Given the description of an element on the screen output the (x, y) to click on. 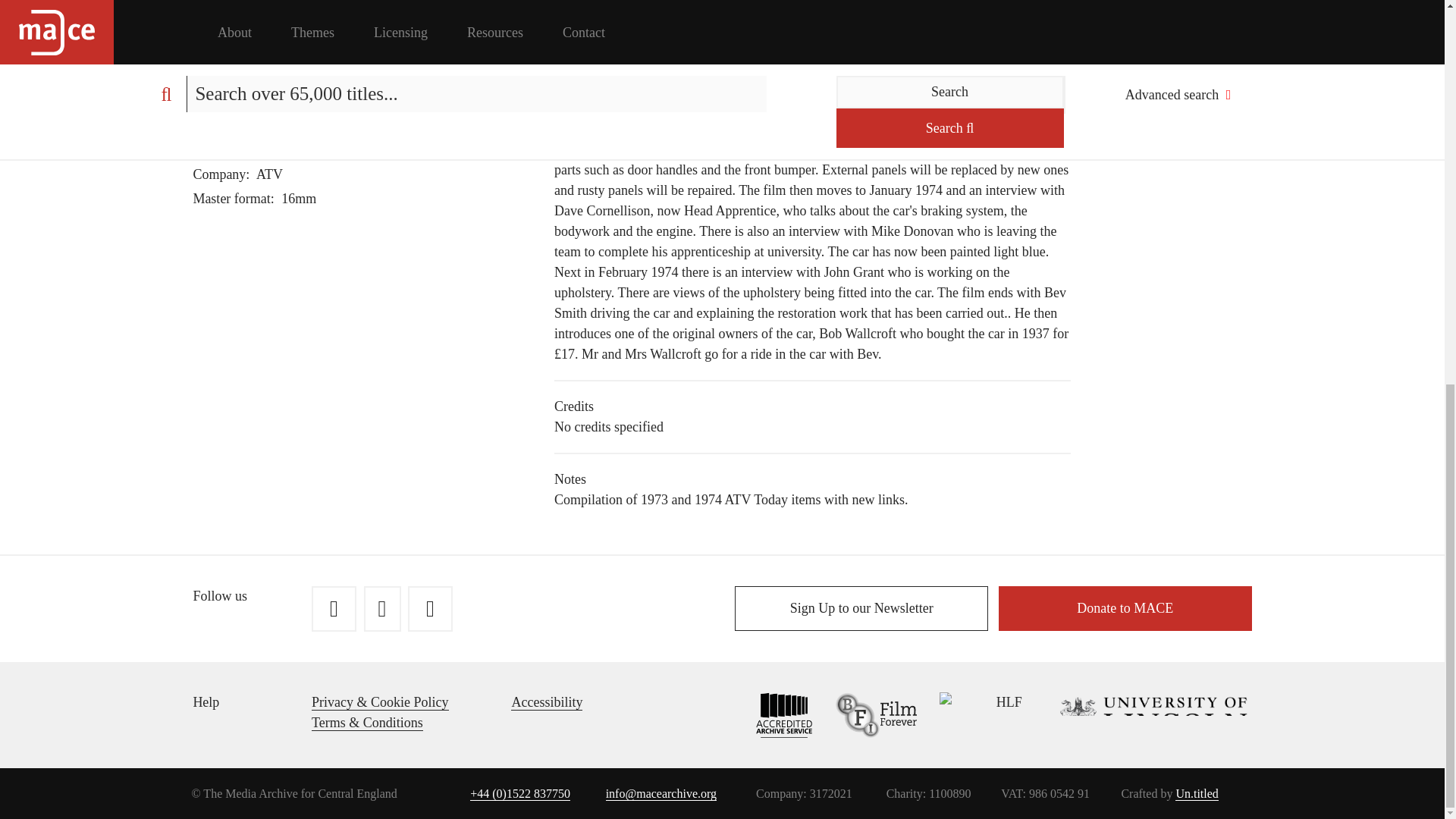
Un.titled (1195, 793)
Sign Up to our Newsletter (861, 608)
Visit partner's site (773, 714)
Visit partner's site (864, 714)
Visit partner's site (1137, 714)
Visit partner's site (969, 714)
Television News (283, 150)
Accessibility (546, 702)
Donate to MACE (1125, 608)
